Given the description of an element on the screen output the (x, y) to click on. 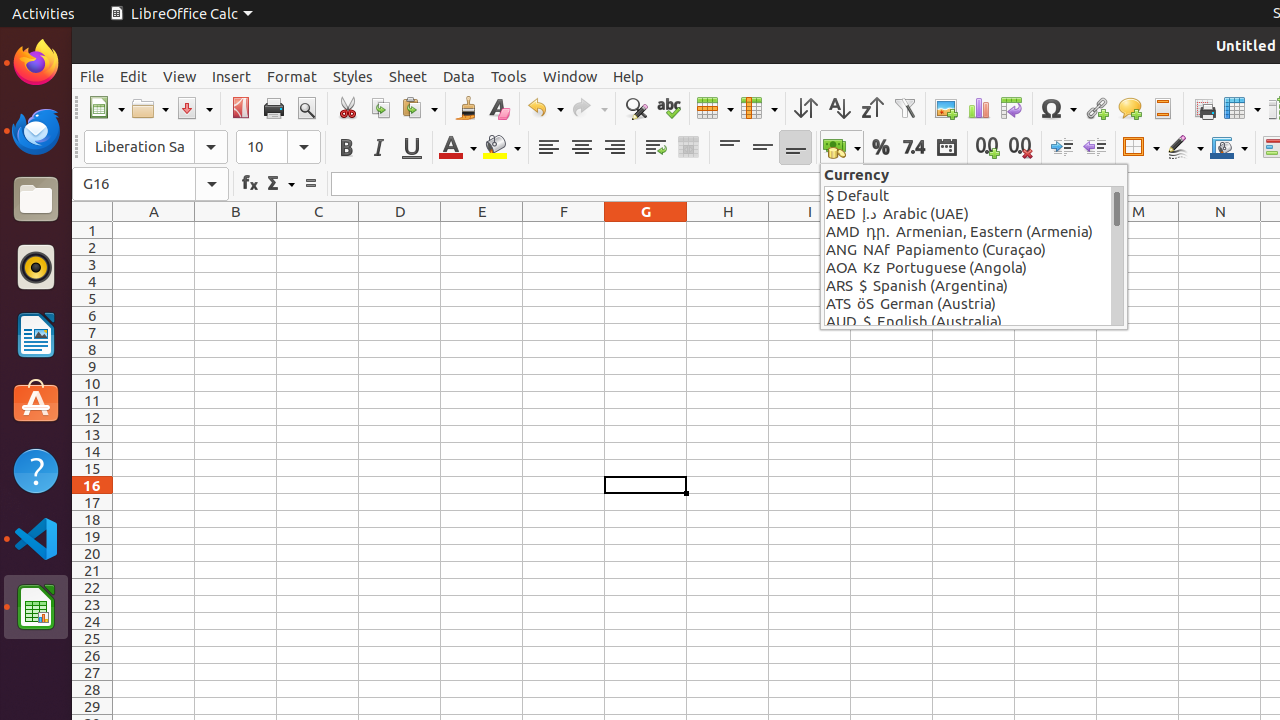
‪ANG‬  ‪NAf‬  ‪Papiamento (Curaçao)‬ Element type: list-item (968, 249)
H1 Element type: table-cell (728, 230)
Font Name Element type: combo-box (156, 147)
Italic Element type: toggle-button (378, 147)
Image Element type: push-button (945, 108)
